Given the description of an element on the screen output the (x, y) to click on. 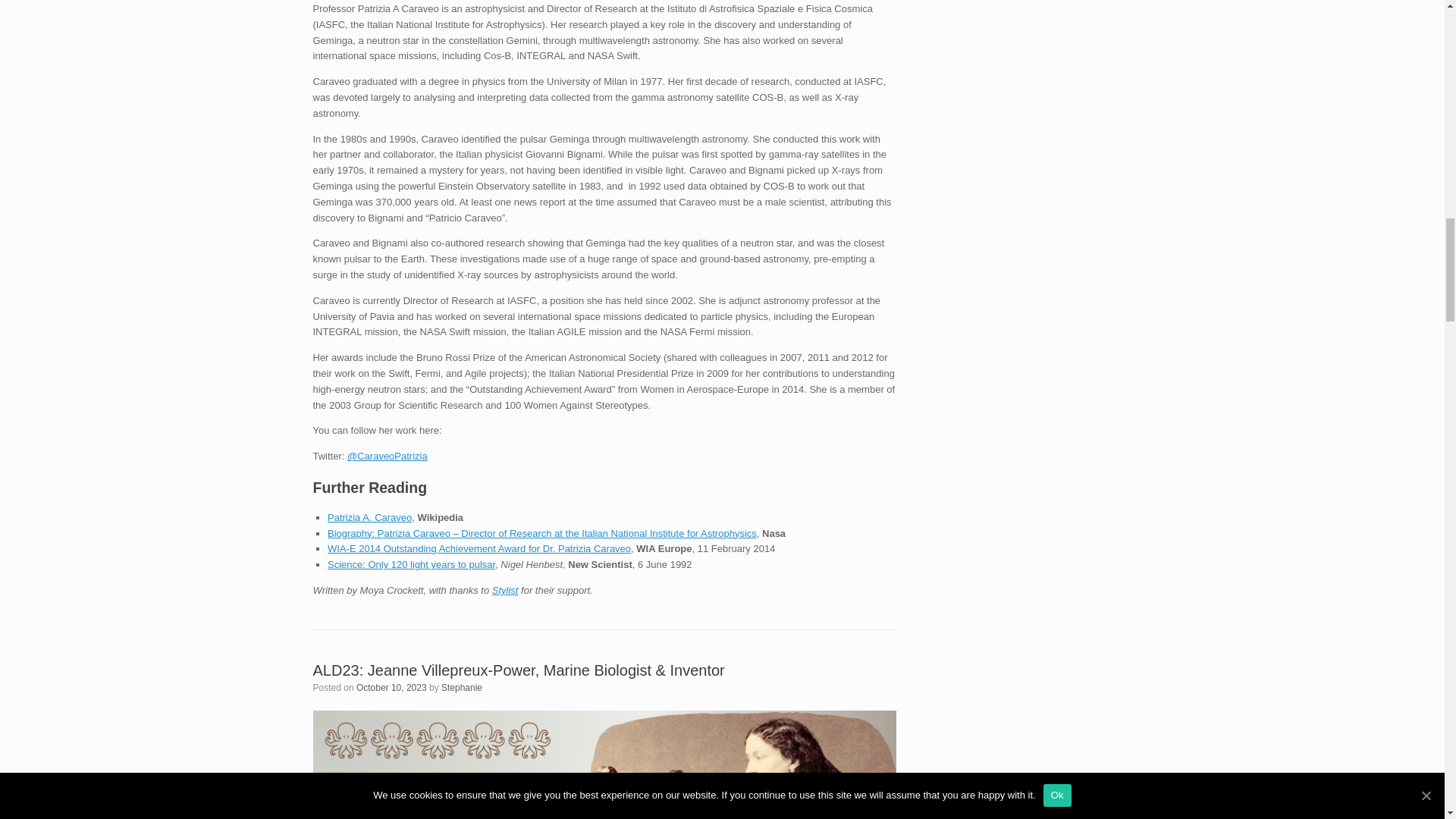
View all posts by Stephanie (461, 687)
7:30 pm (391, 687)
